Given the description of an element on the screen output the (x, y) to click on. 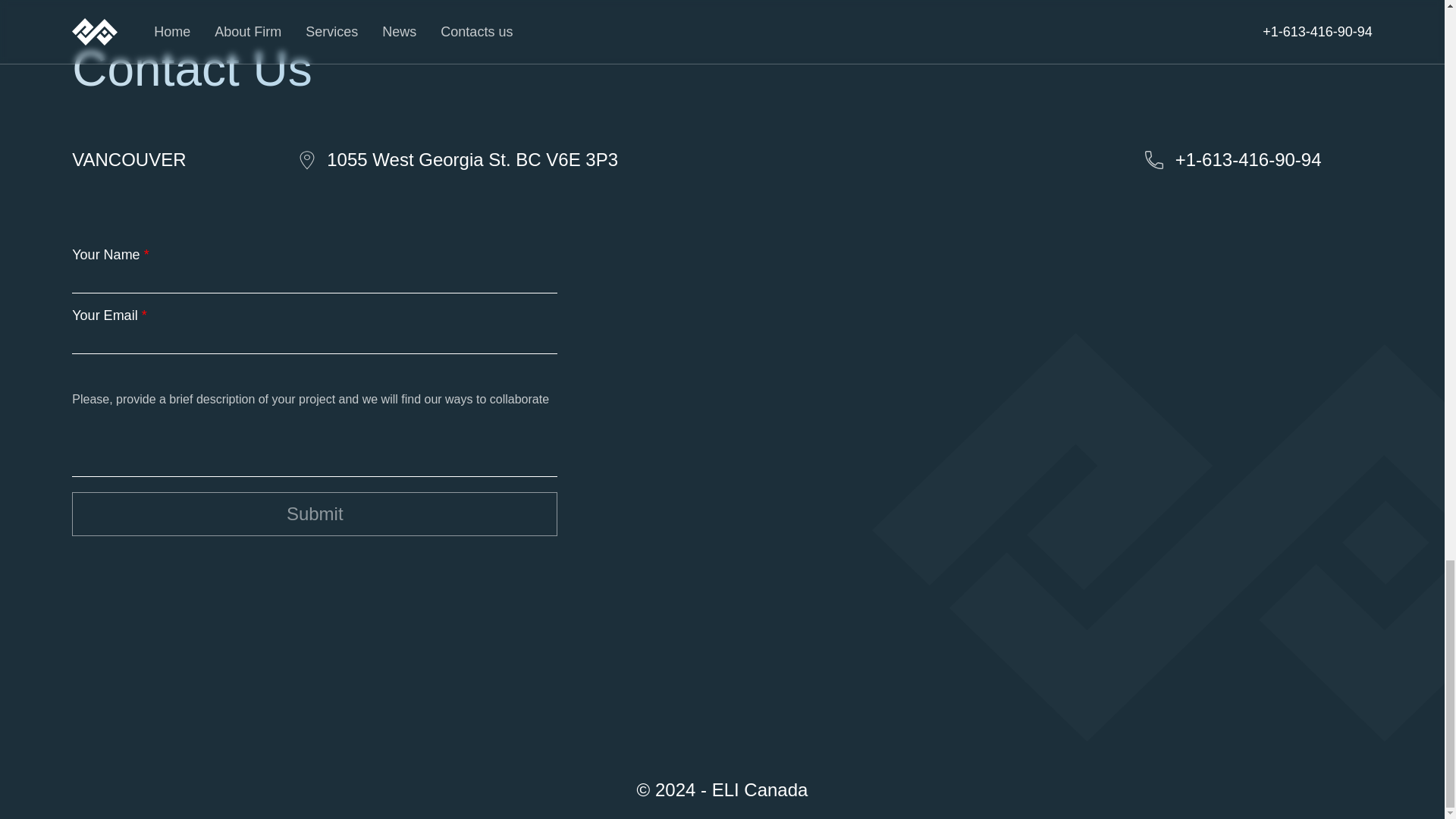
Submit (314, 514)
